Given the description of an element on the screen output the (x, y) to click on. 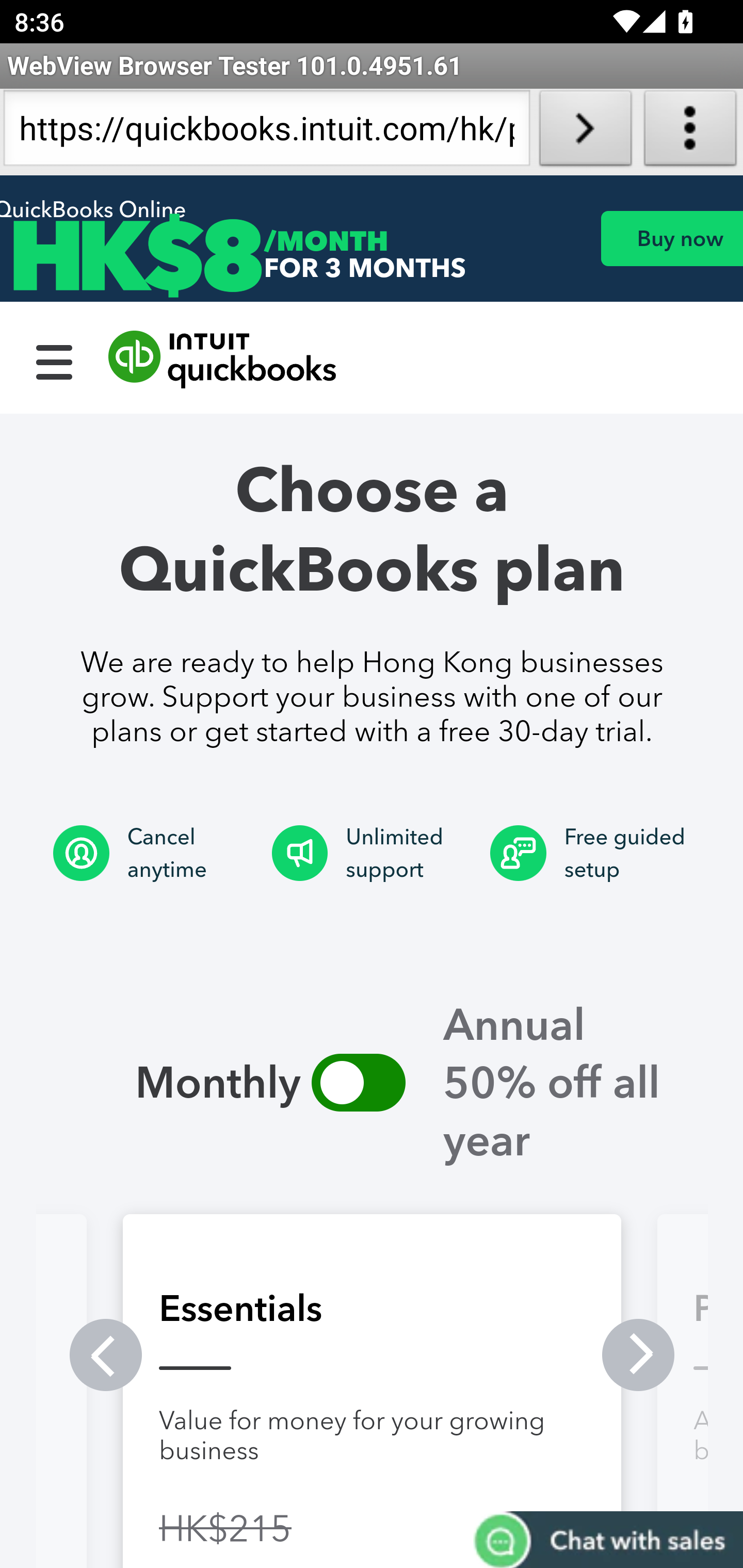
https://quickbooks.intuit.com/hk/pricing/ (266, 132)
Load URL (585, 132)
About WebView (690, 132)
Buy now (671, 238)
quickbooks-mobile-burger (54, 359)
quickbooks (222, 359)
Annual 50% off all year (570, 1081)
Monthly (174, 1082)
Monthly  (358, 1081)
